Given the description of an element on the screen output the (x, y) to click on. 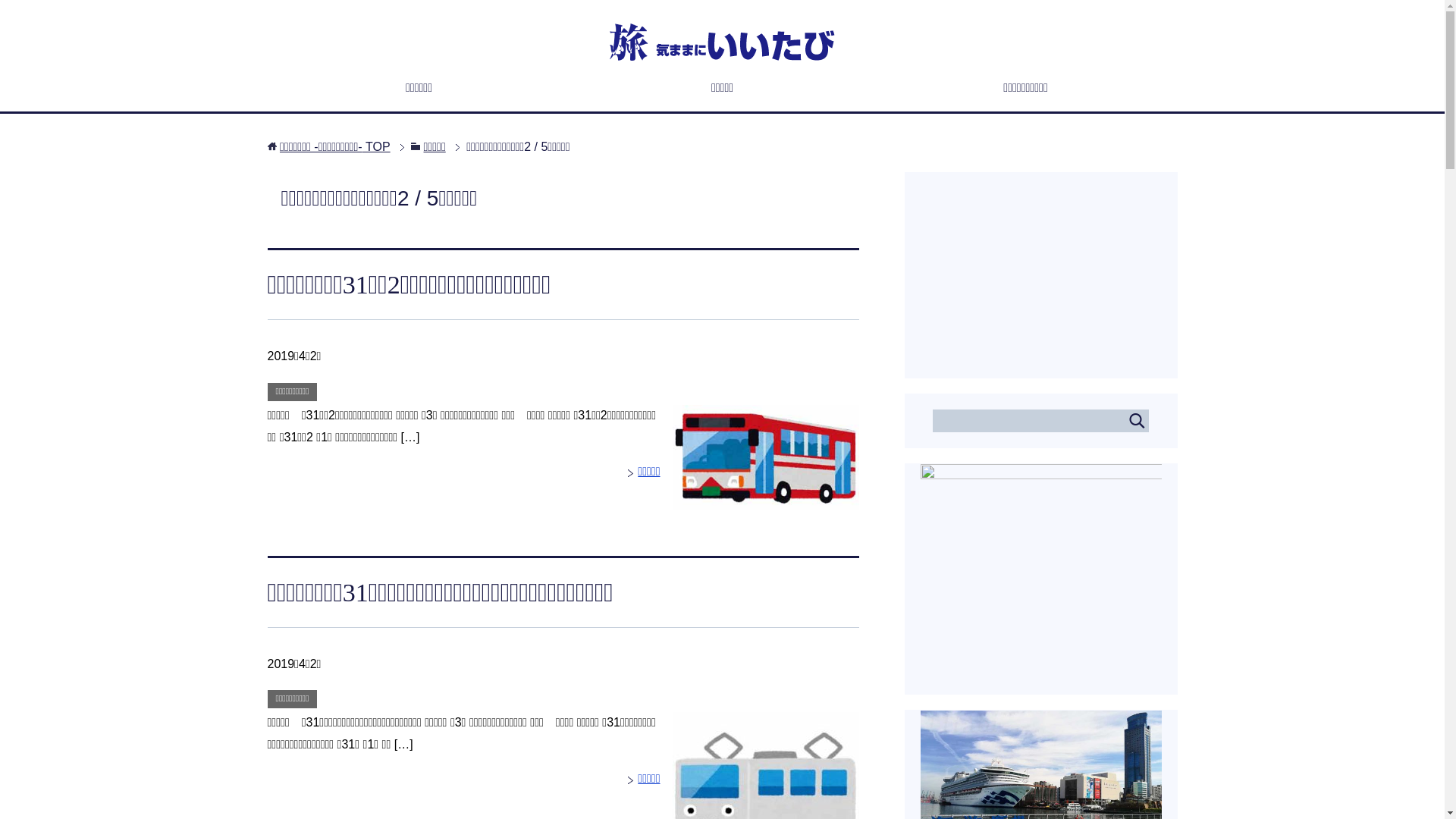
Advertisement Element type: hover (1040, 267)
